Given the description of an element on the screen output the (x, y) to click on. 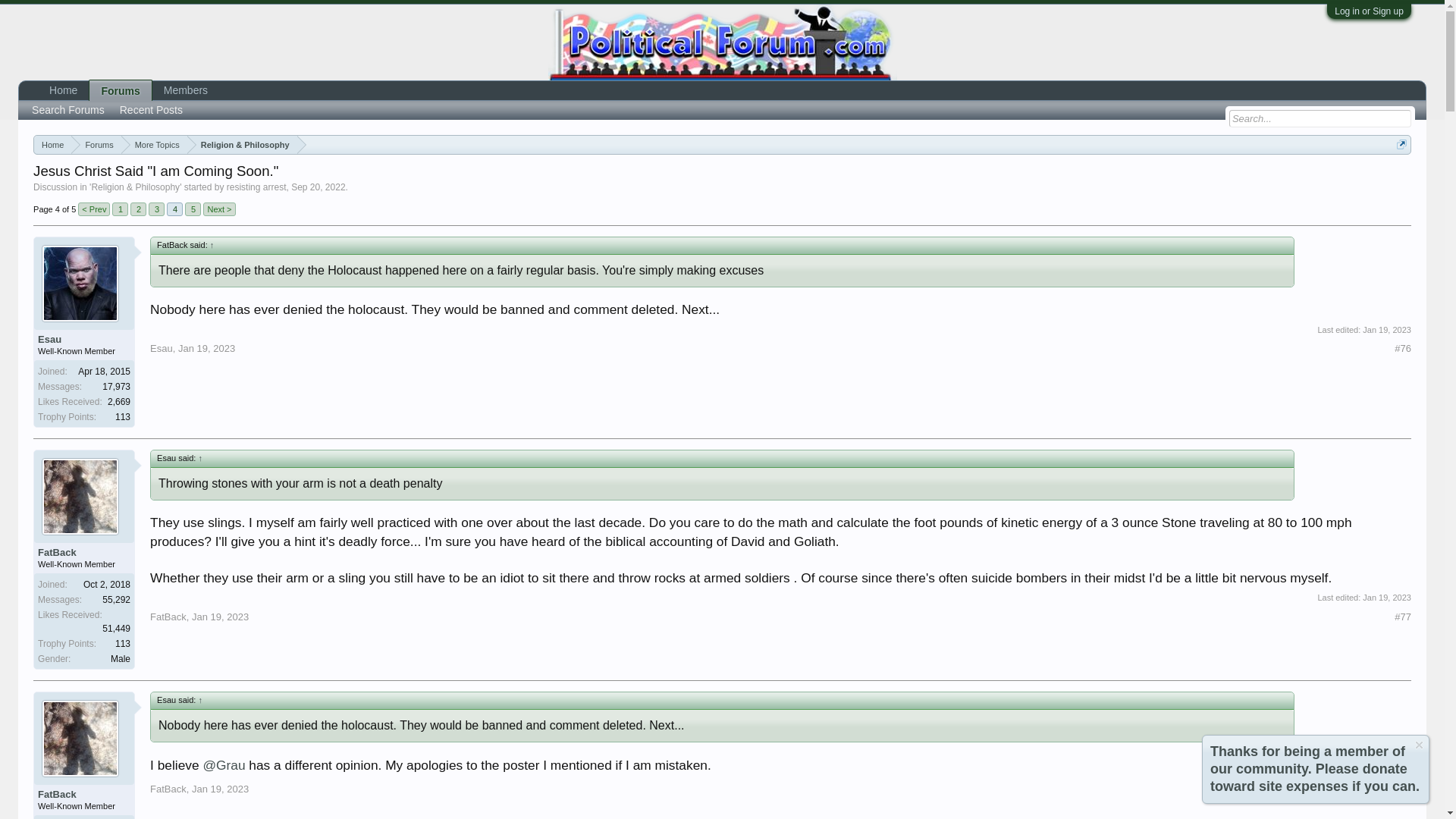
Jan 19, 2023 (220, 616)
FatBack (167, 616)
Permalink (1402, 617)
Dismiss Notice (1419, 745)
Home (52, 144)
Open quick navigation (1401, 144)
2 (139, 209)
Esau (84, 339)
113 (123, 416)
